Given the description of an element on the screen output the (x, y) to click on. 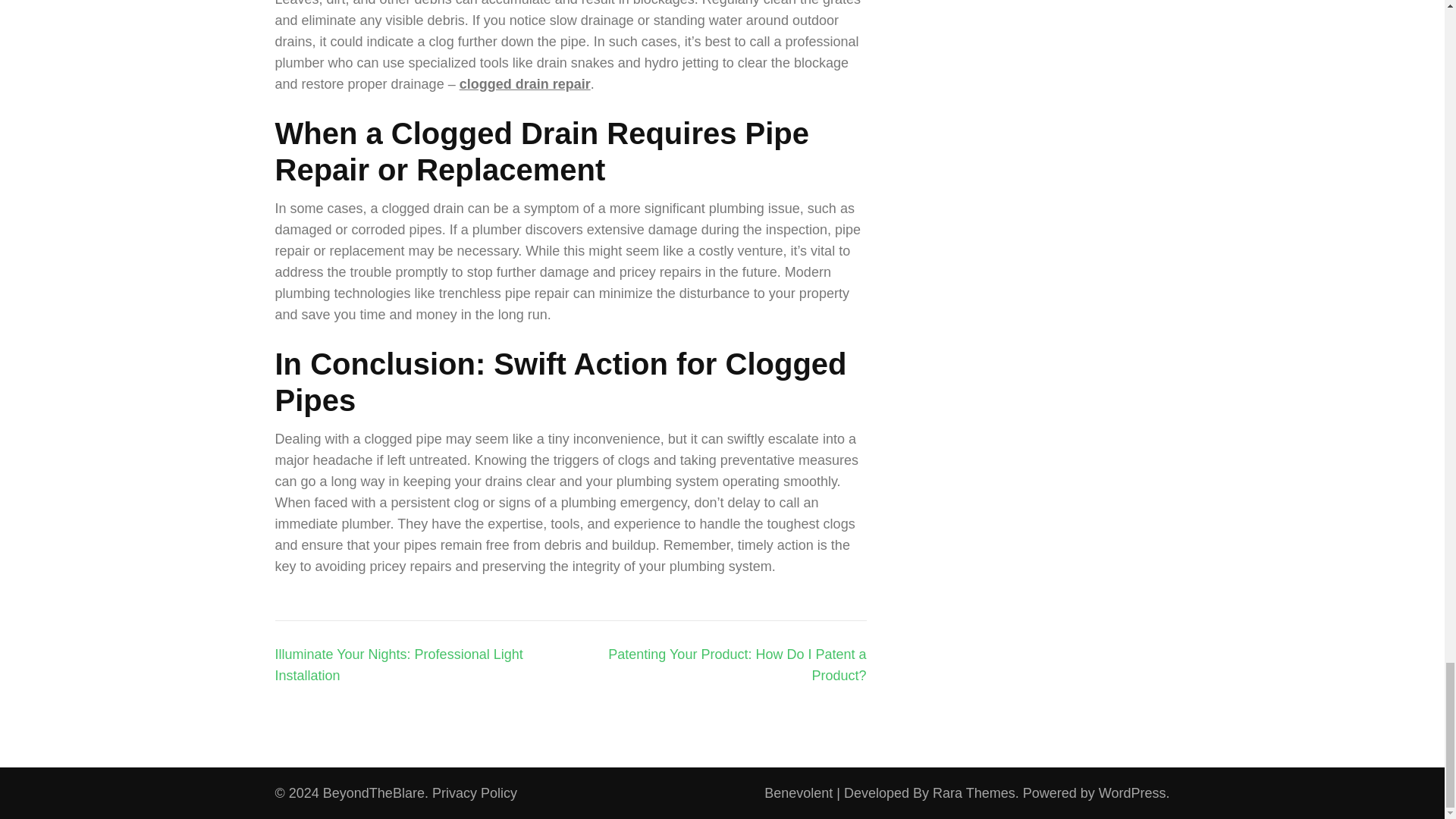
Patenting Your Product: How Do I Patent a Product? (737, 665)
clogged drain repair (525, 83)
Illuminate Your Nights: Professional Light Installation (398, 665)
